Given the description of an element on the screen output the (x, y) to click on. 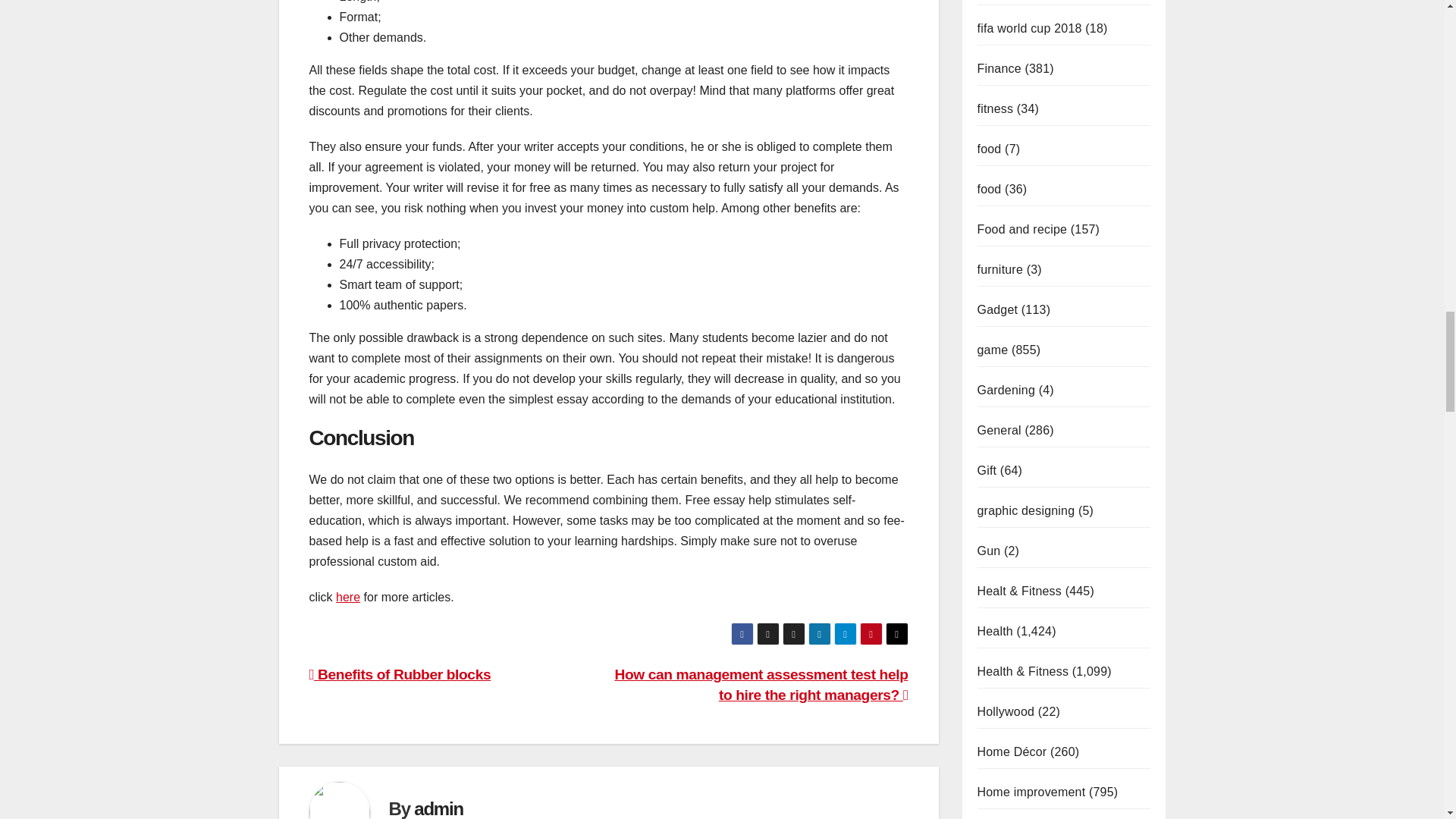
here (347, 596)
Benefits of Rubber blocks (400, 674)
admin (438, 808)
